Given the description of an element on the screen output the (x, y) to click on. 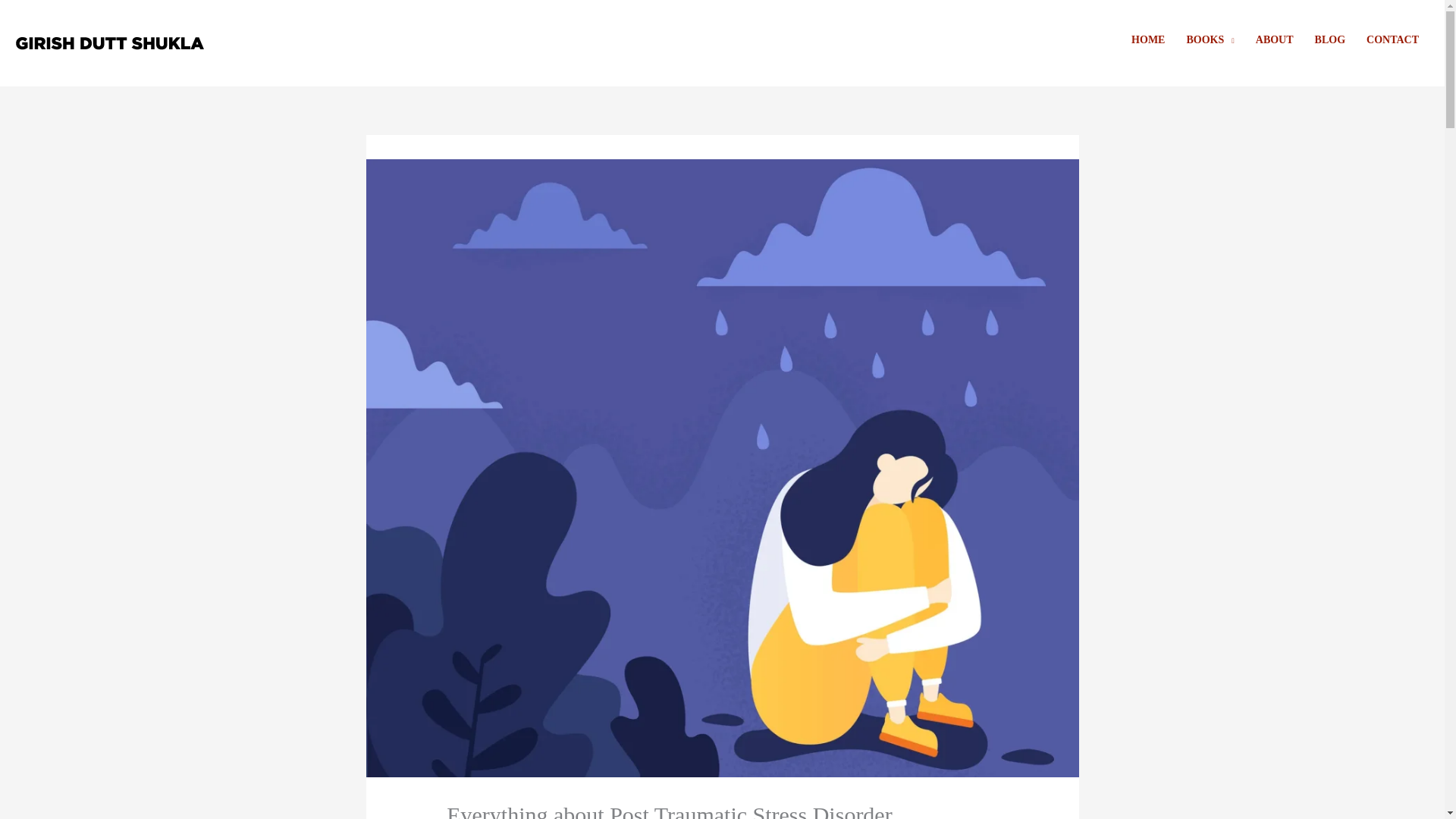
BOOKS (1209, 39)
ABOUT (1274, 39)
HOME (1147, 39)
CONTACT (1392, 39)
BLOG (1329, 39)
